Given the description of an element on the screen output the (x, y) to click on. 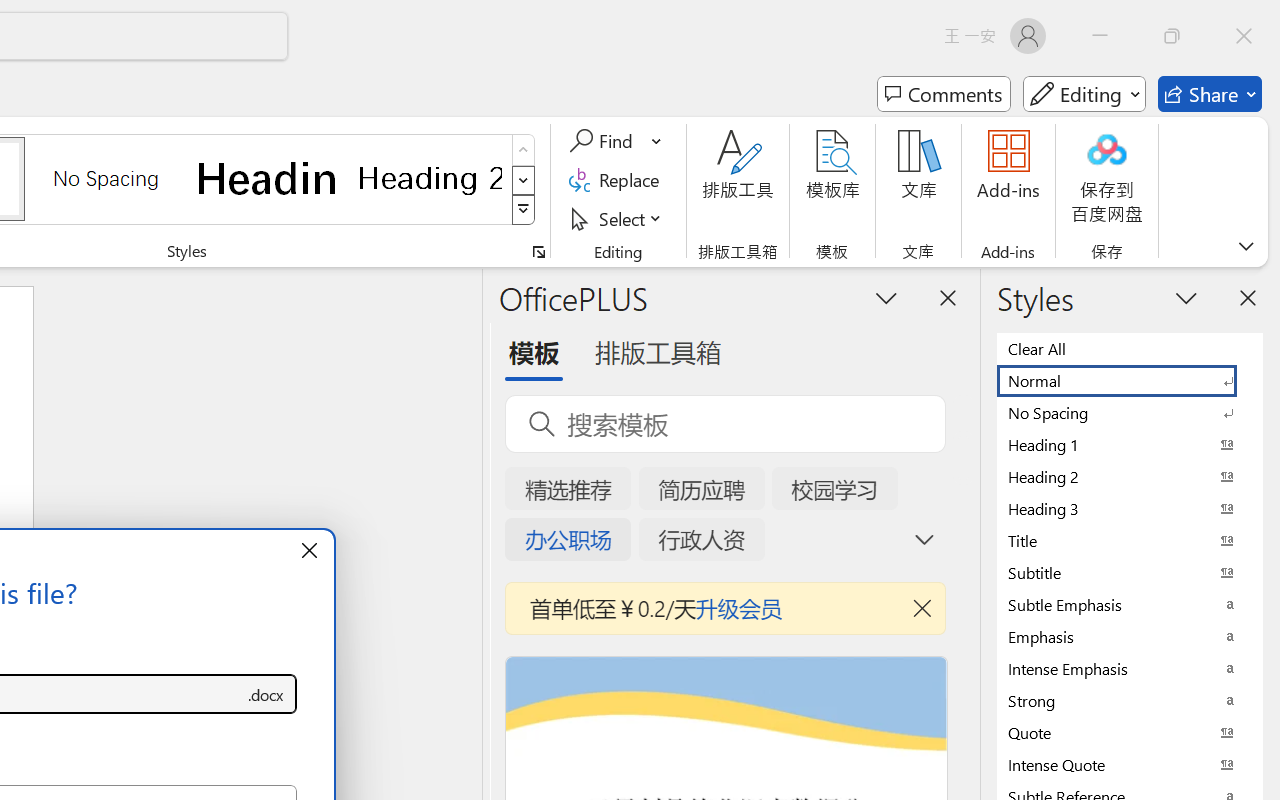
Mode (1083, 94)
Emphasis (1130, 636)
